Given the description of an element on the screen output the (x, y) to click on. 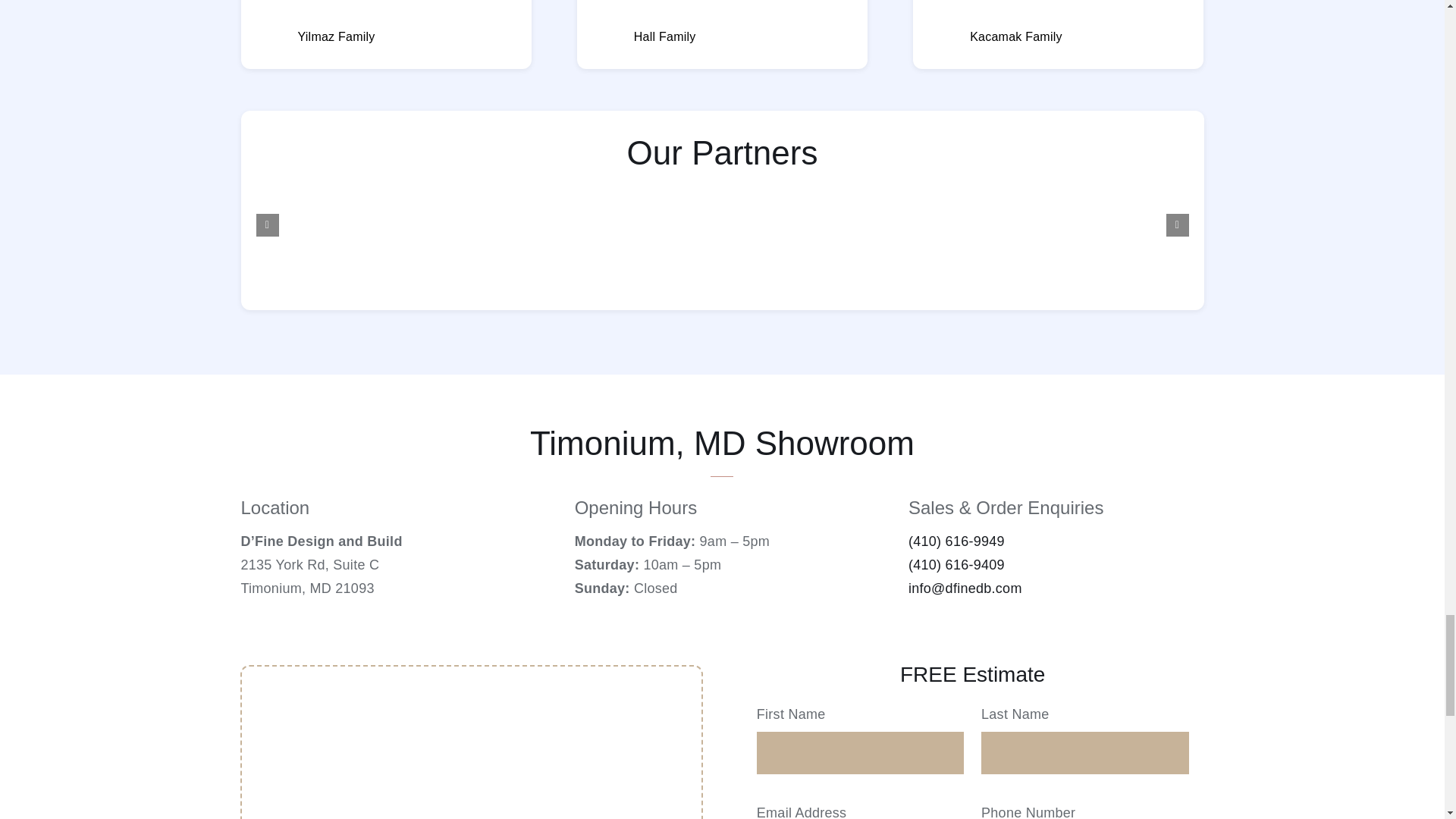
googlelogo (271, 38)
googlelogo (607, 38)
googlelogo (943, 38)
